Given the description of an element on the screen output the (x, y) to click on. 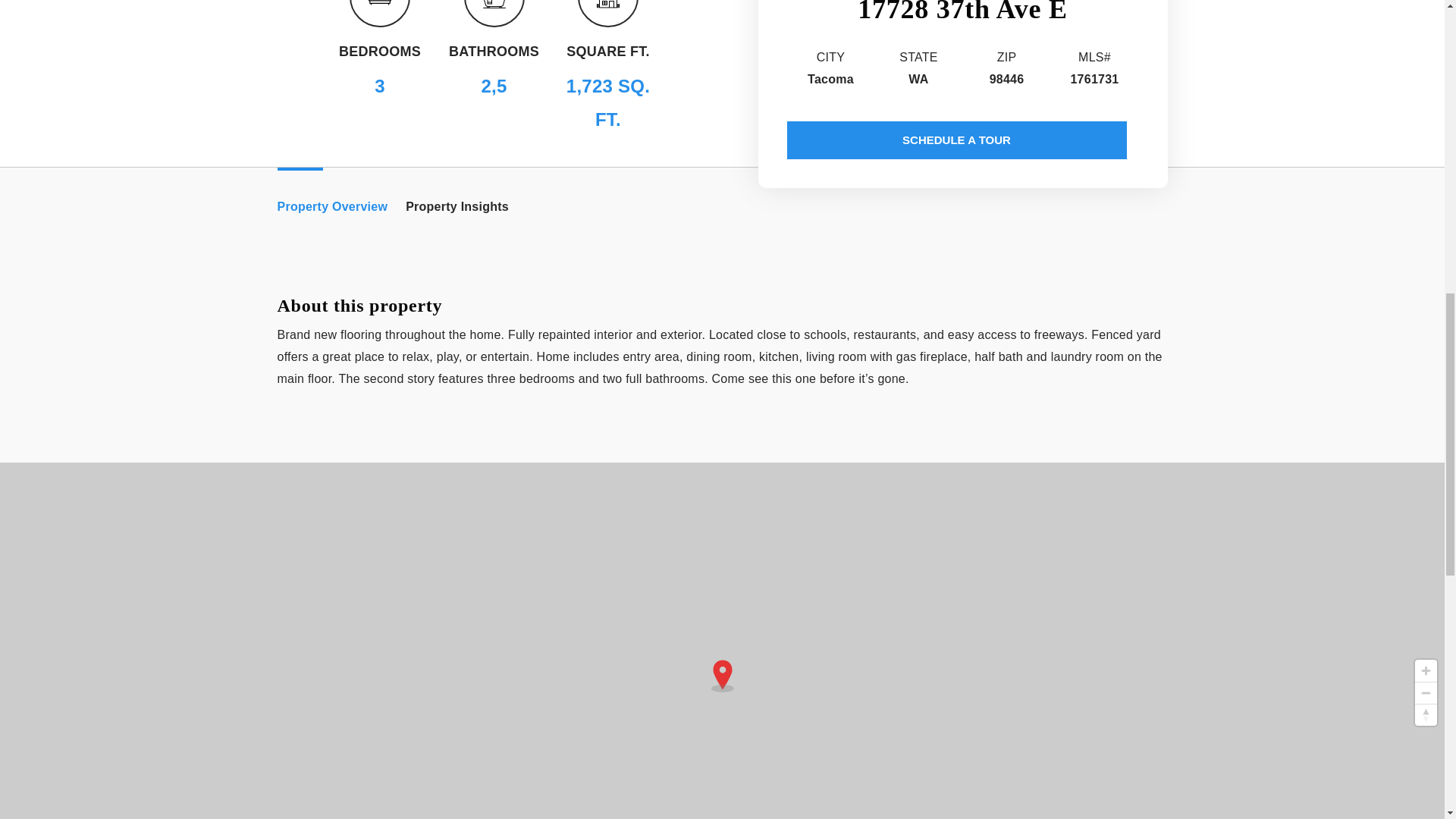
Reset bearing to north (1426, 714)
Zoom out (1426, 692)
Zoom in (1426, 670)
